Given the description of an element on the screen output the (x, y) to click on. 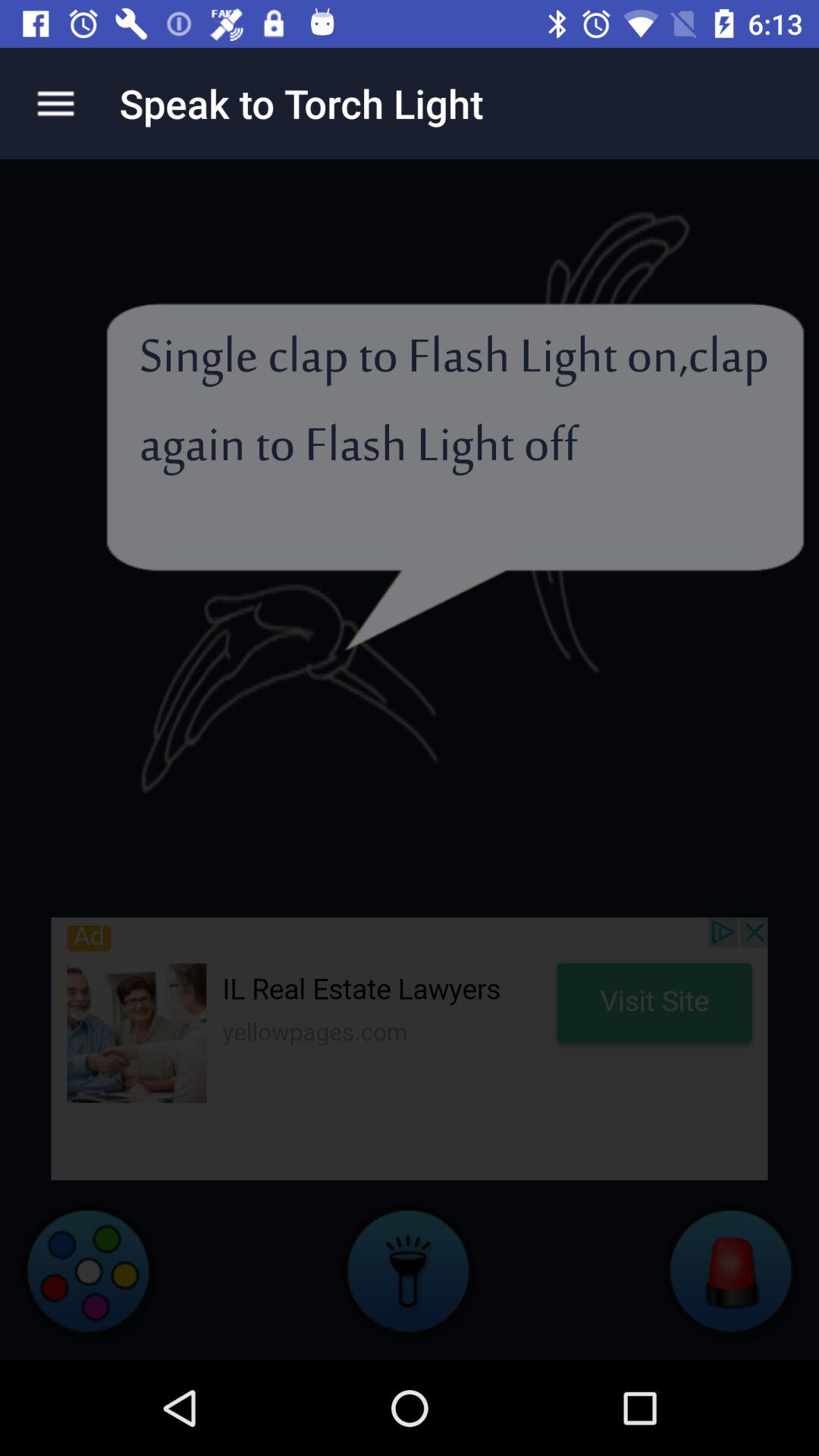
flash button (409, 1270)
